Given the description of an element on the screen output the (x, y) to click on. 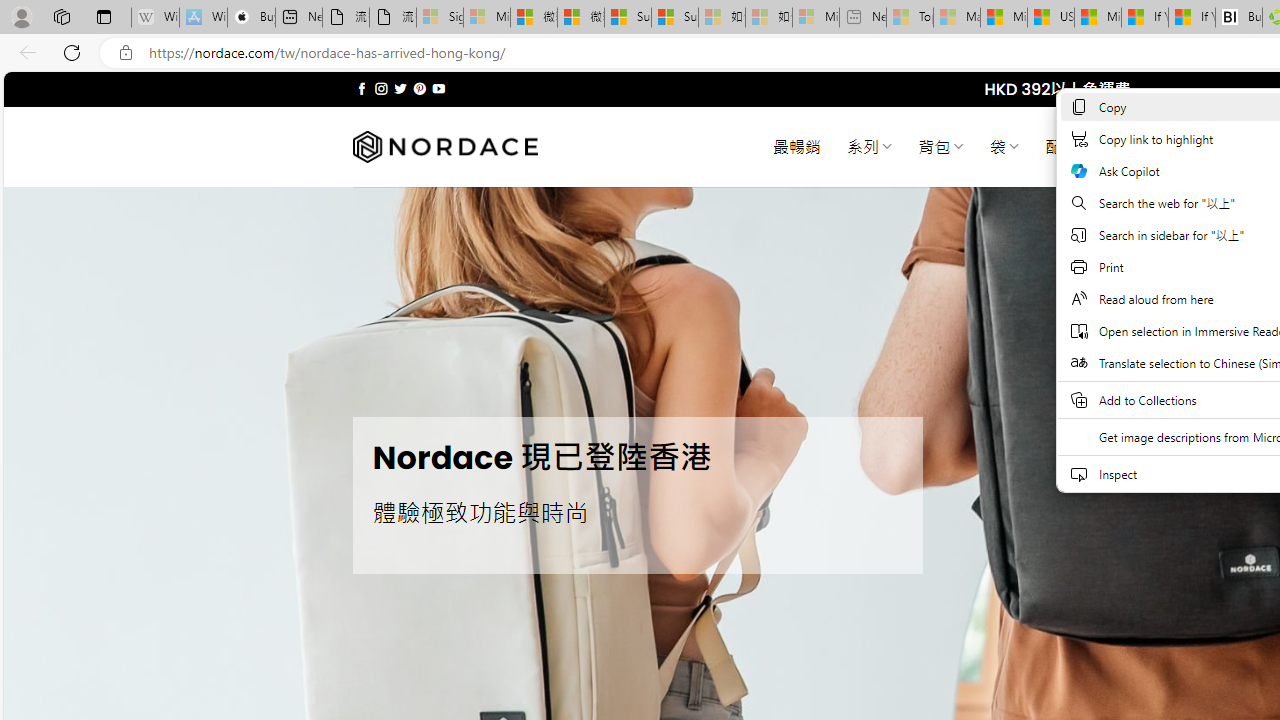
Sign in to your Microsoft account - Sleeping (440, 17)
